Given the description of an element on the screen output the (x, y) to click on. 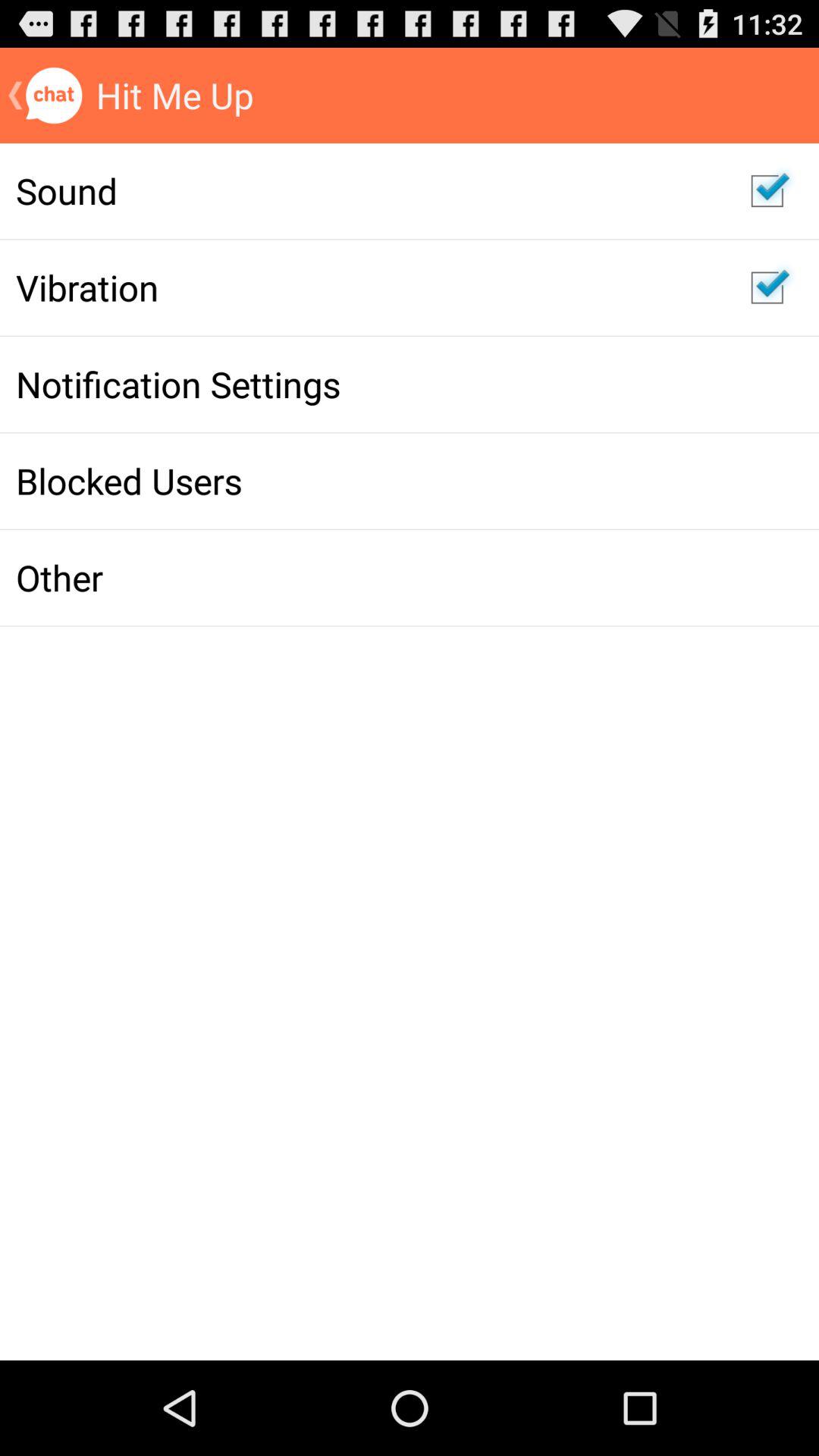
tap item below the blocked users item (367, 577)
